Given the description of an element on the screen output the (x, y) to click on. 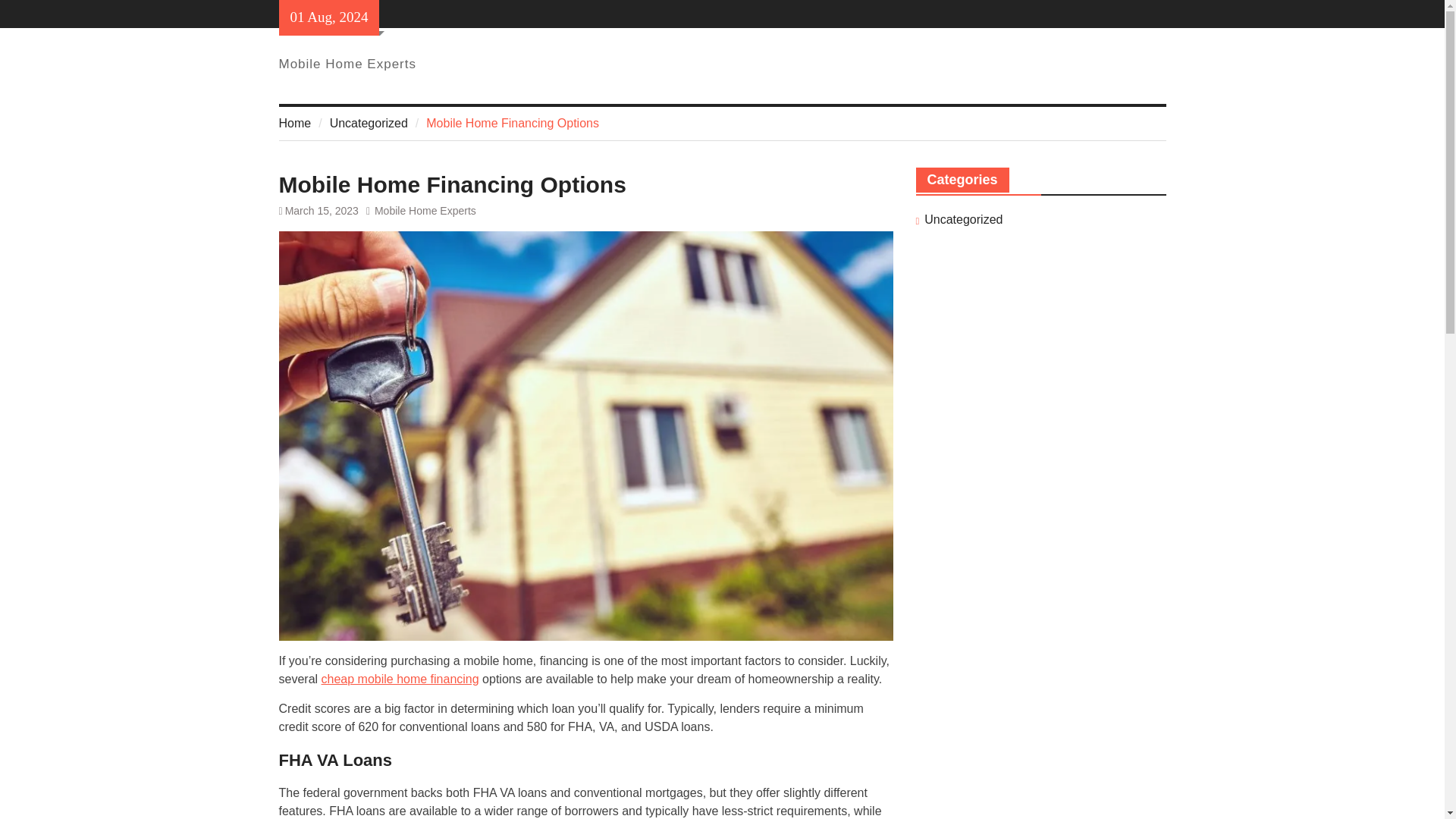
Uncategorized (368, 123)
Mobile Home Experts (425, 210)
March 15, 2023 (321, 210)
Home (295, 123)
Uncategorized (963, 219)
cheap mobile home financing (400, 678)
